Given the description of an element on the screen output the (x, y) to click on. 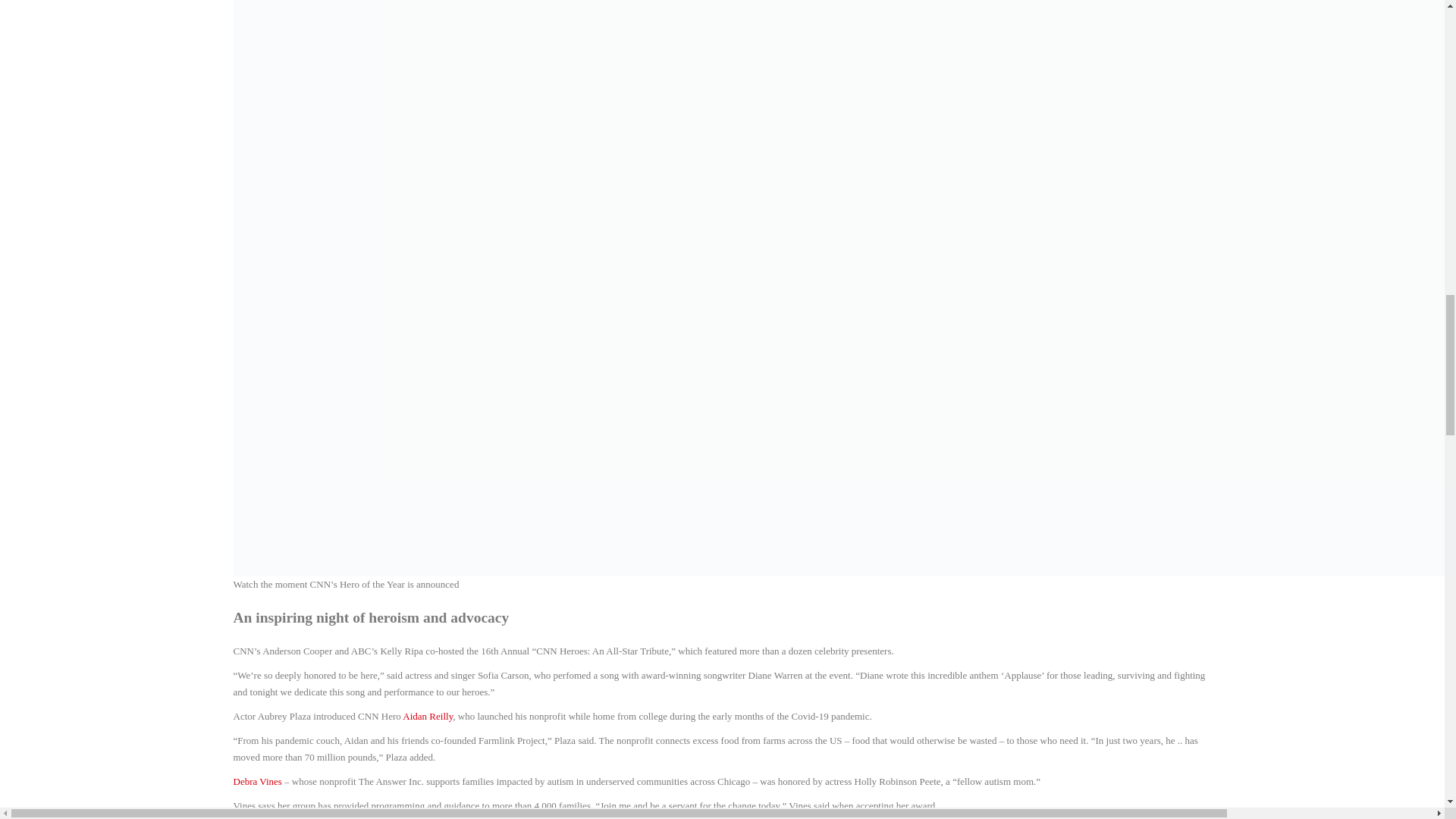
Debra Vines (257, 781)
Aidan Reilly (427, 715)
